Given the description of an element on the screen output the (x, y) to click on. 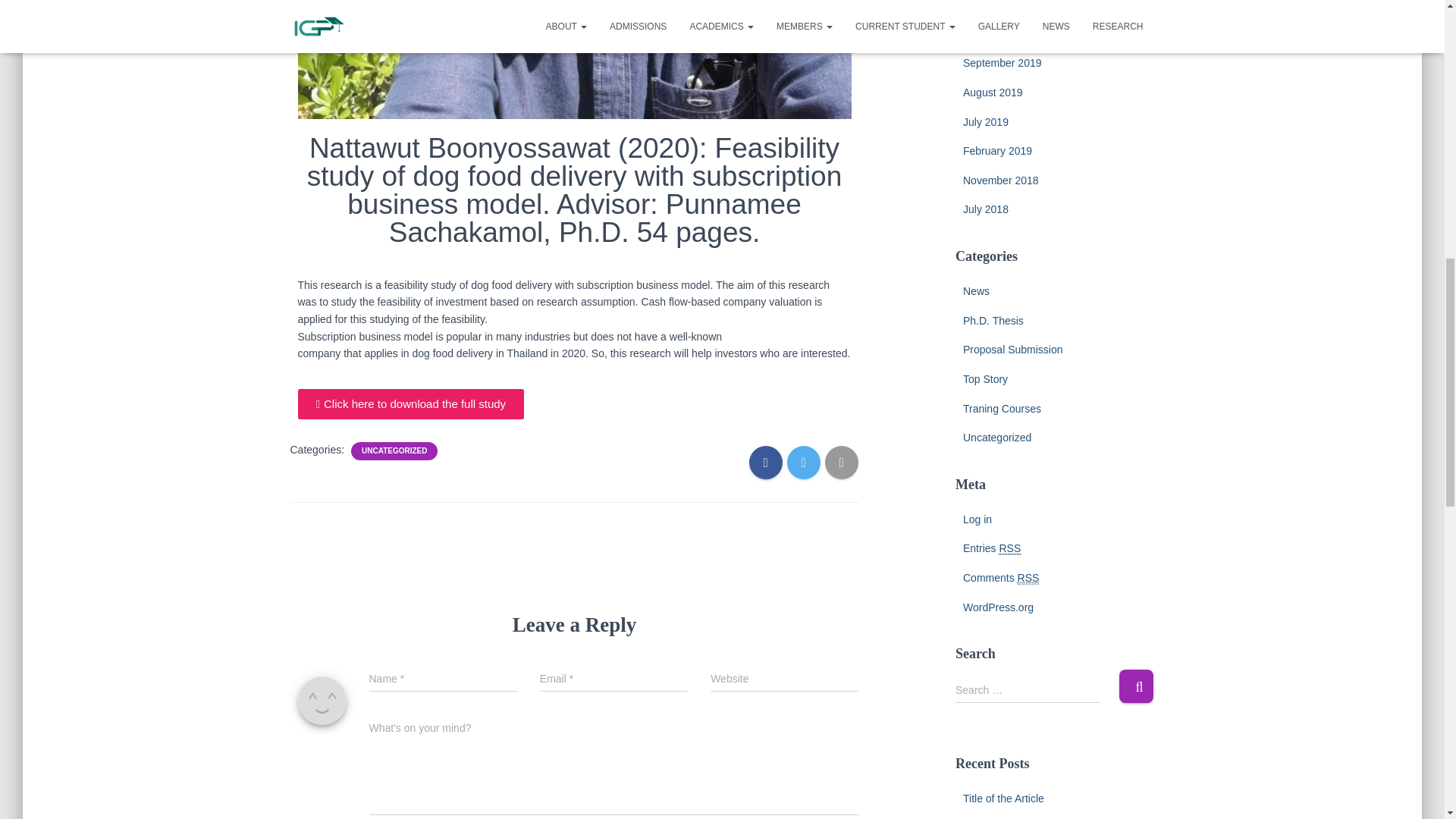
Search (1136, 685)
UNCATEGORIZED (393, 450)
Click here to download the full study (410, 404)
Search (1136, 685)
